Given the description of an element on the screen output the (x, y) to click on. 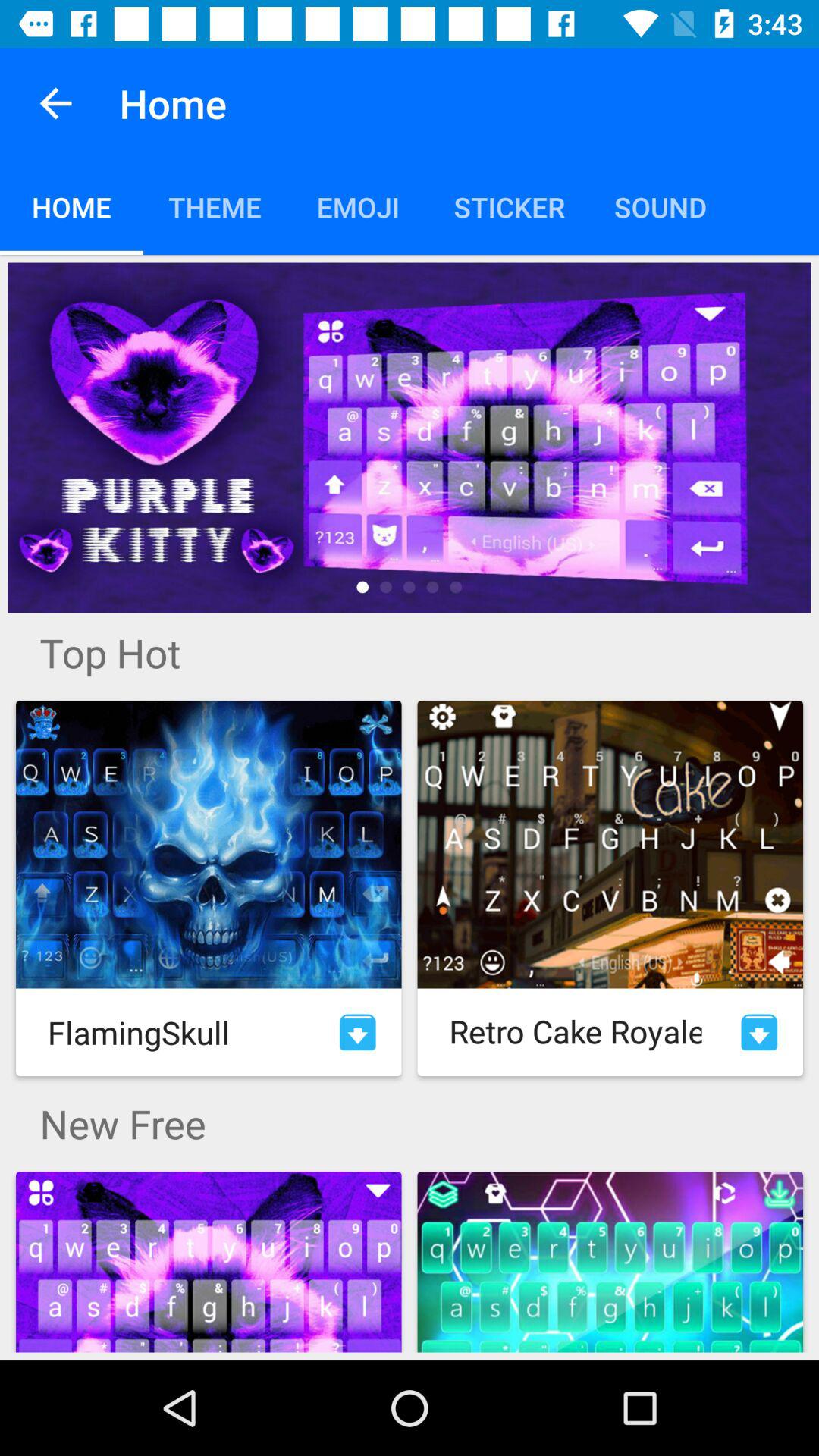
turn on the item below the home icon (409, 437)
